Given the description of an element on the screen output the (x, y) to click on. 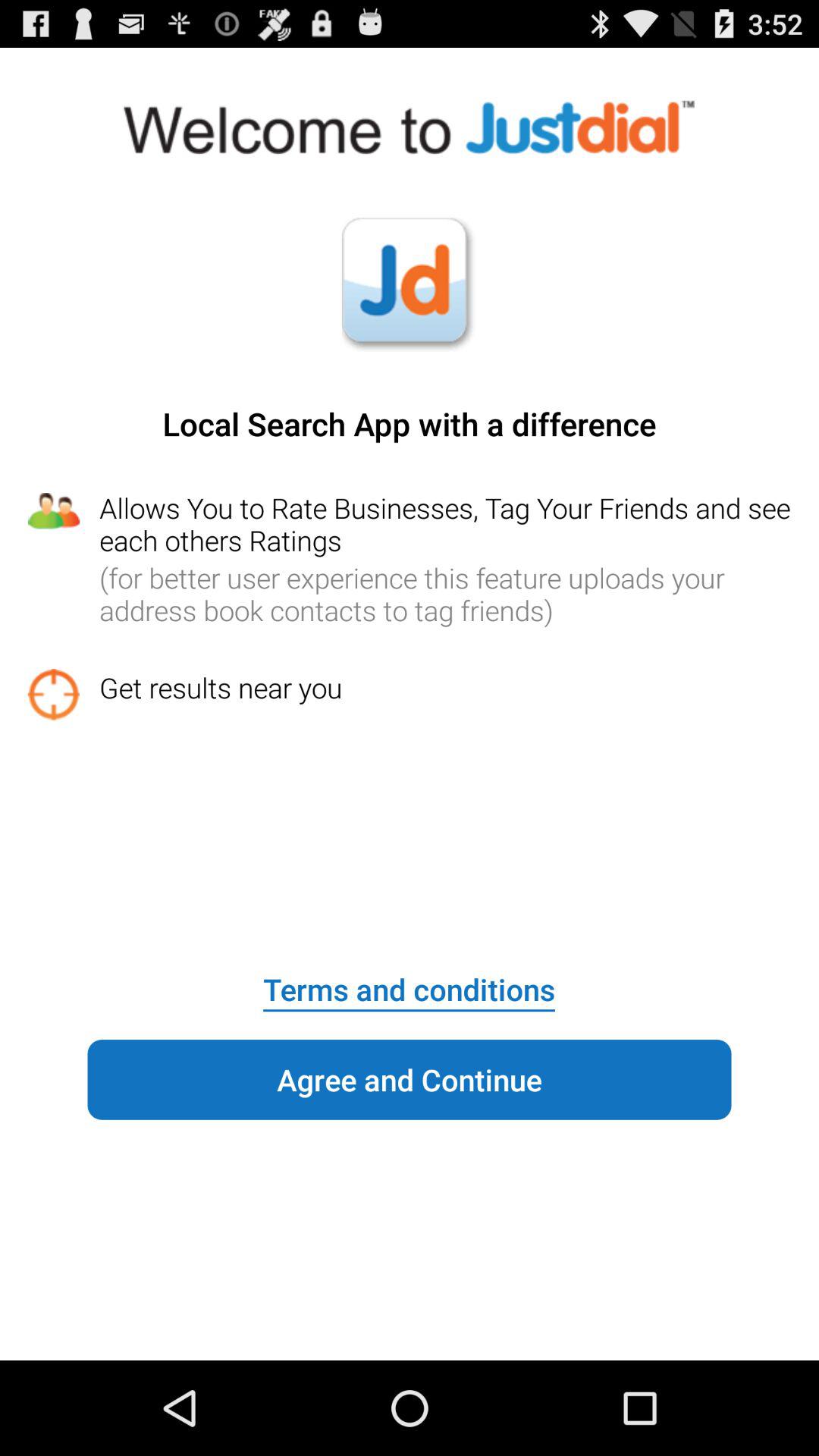
press the app below the get results near (409, 979)
